Given the description of an element on the screen output the (x, y) to click on. 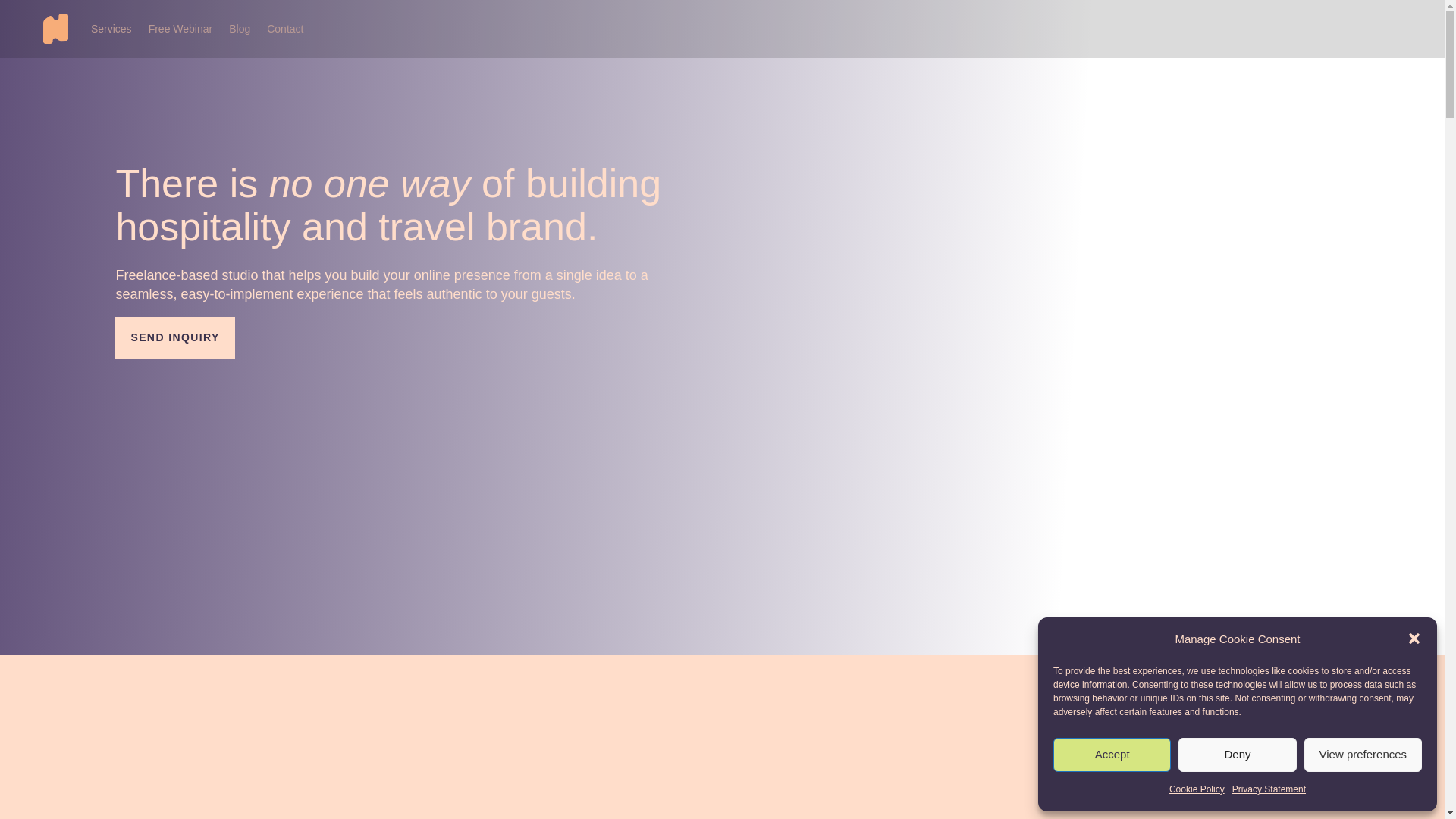
SEND INQUIRY (174, 337)
Privacy Statement (1268, 789)
View preferences (1363, 754)
Accept (1111, 754)
Deny (1236, 754)
Free Webinar (180, 28)
Cookie Policy (1196, 789)
